Given the description of an element on the screen output the (x, y) to click on. 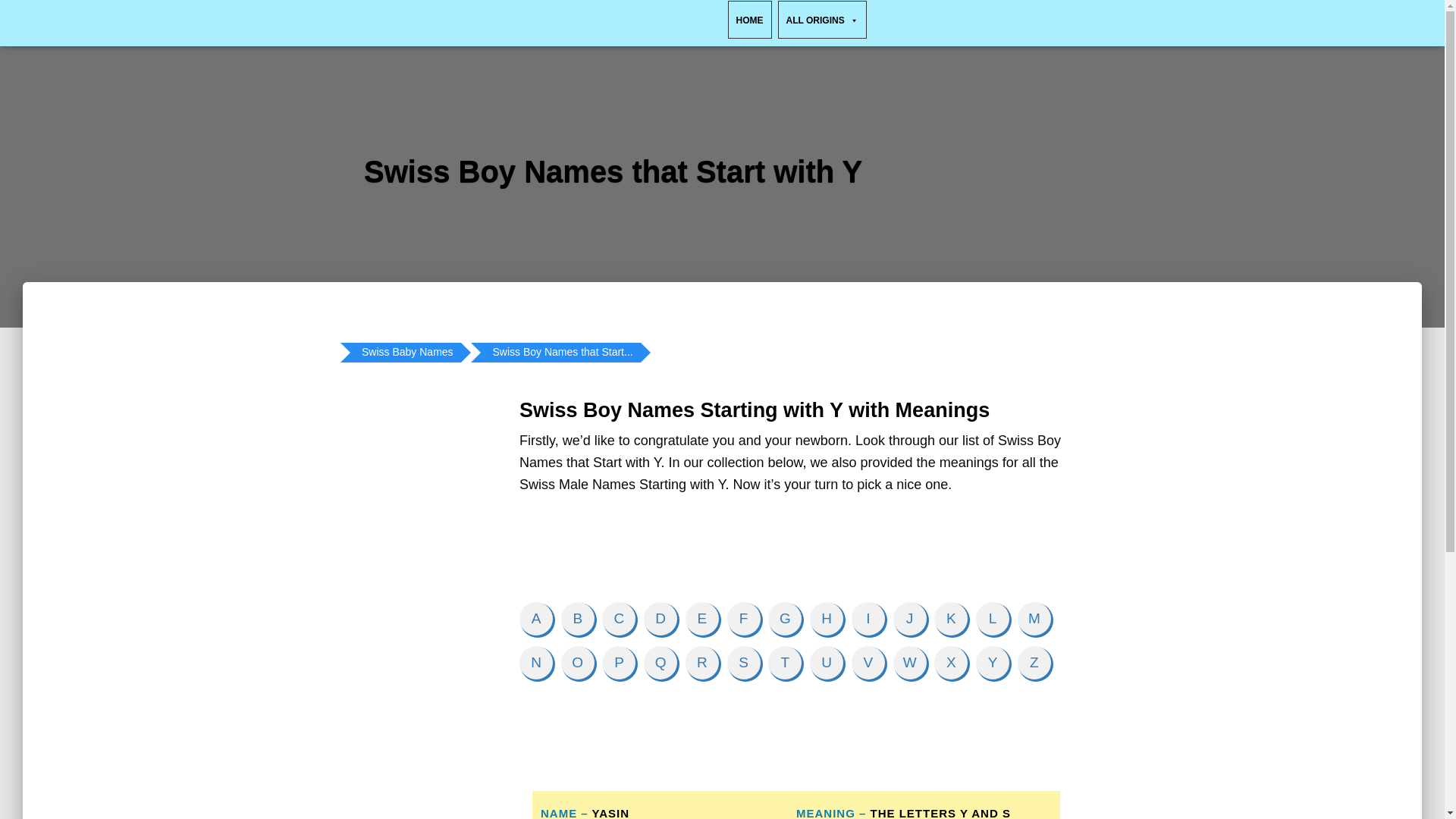
Swiss Boy Names that Start with Y (562, 352)
HOME (749, 19)
Swiss Baby Names (407, 352)
ALL ORIGINS (821, 19)
